Given the description of an element on the screen output the (x, y) to click on. 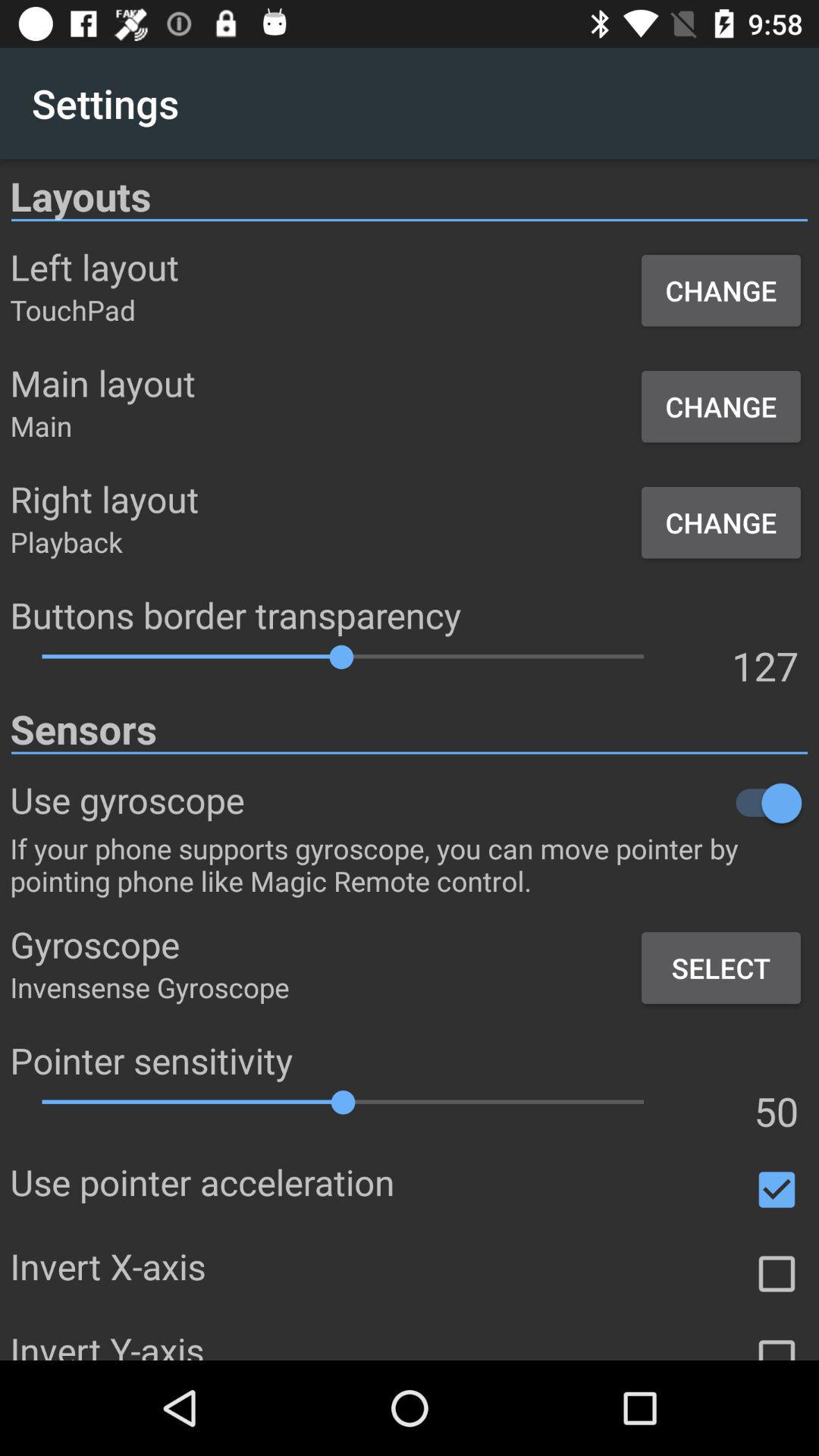
turn on the select item (720, 967)
